Given the description of an element on the screen output the (x, y) to click on. 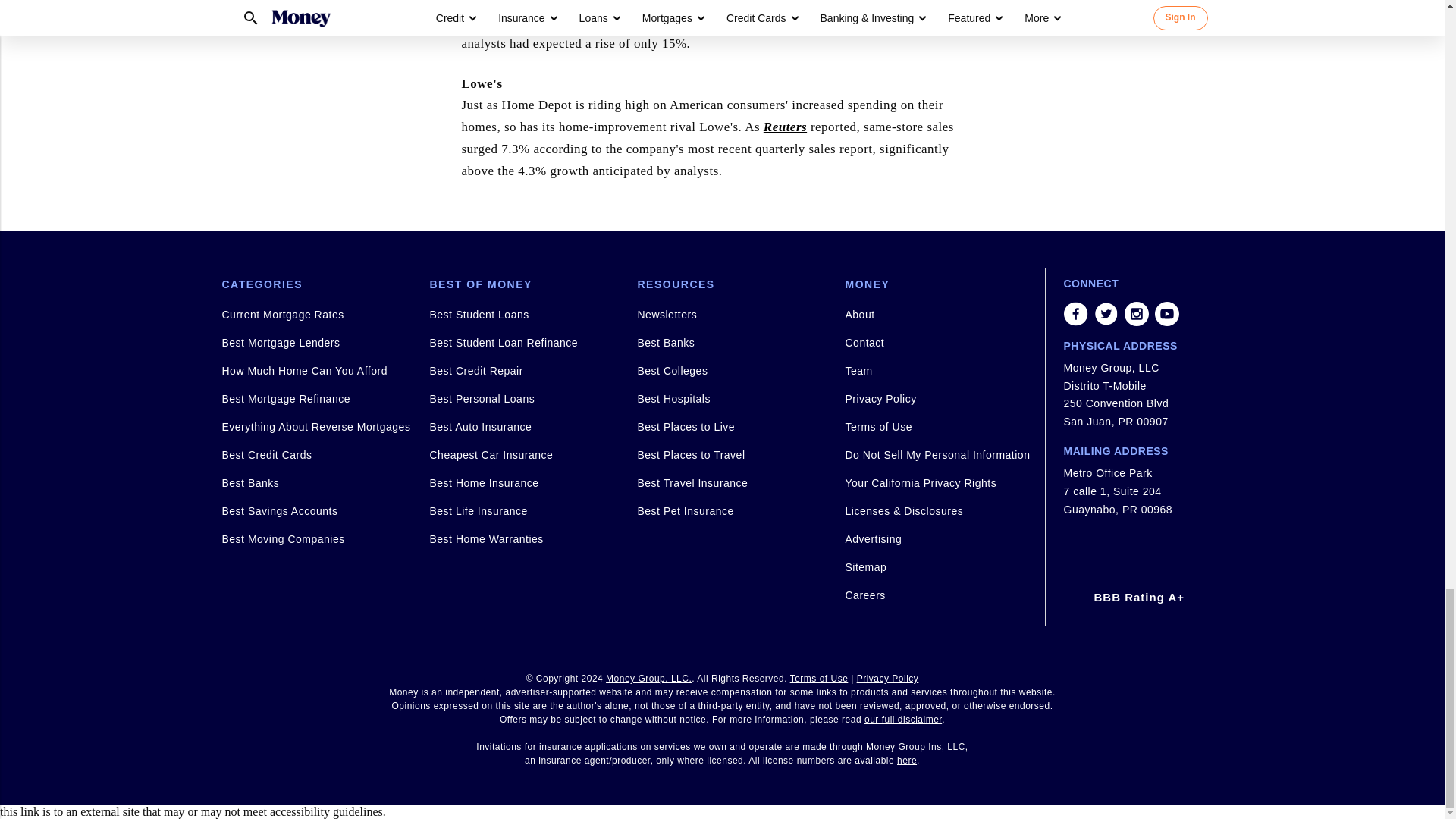
instagram share (1136, 313)
youtube share (1165, 313)
facebook share (1074, 313)
twitter share (1105, 313)
